Given the description of an element on the screen output the (x, y) to click on. 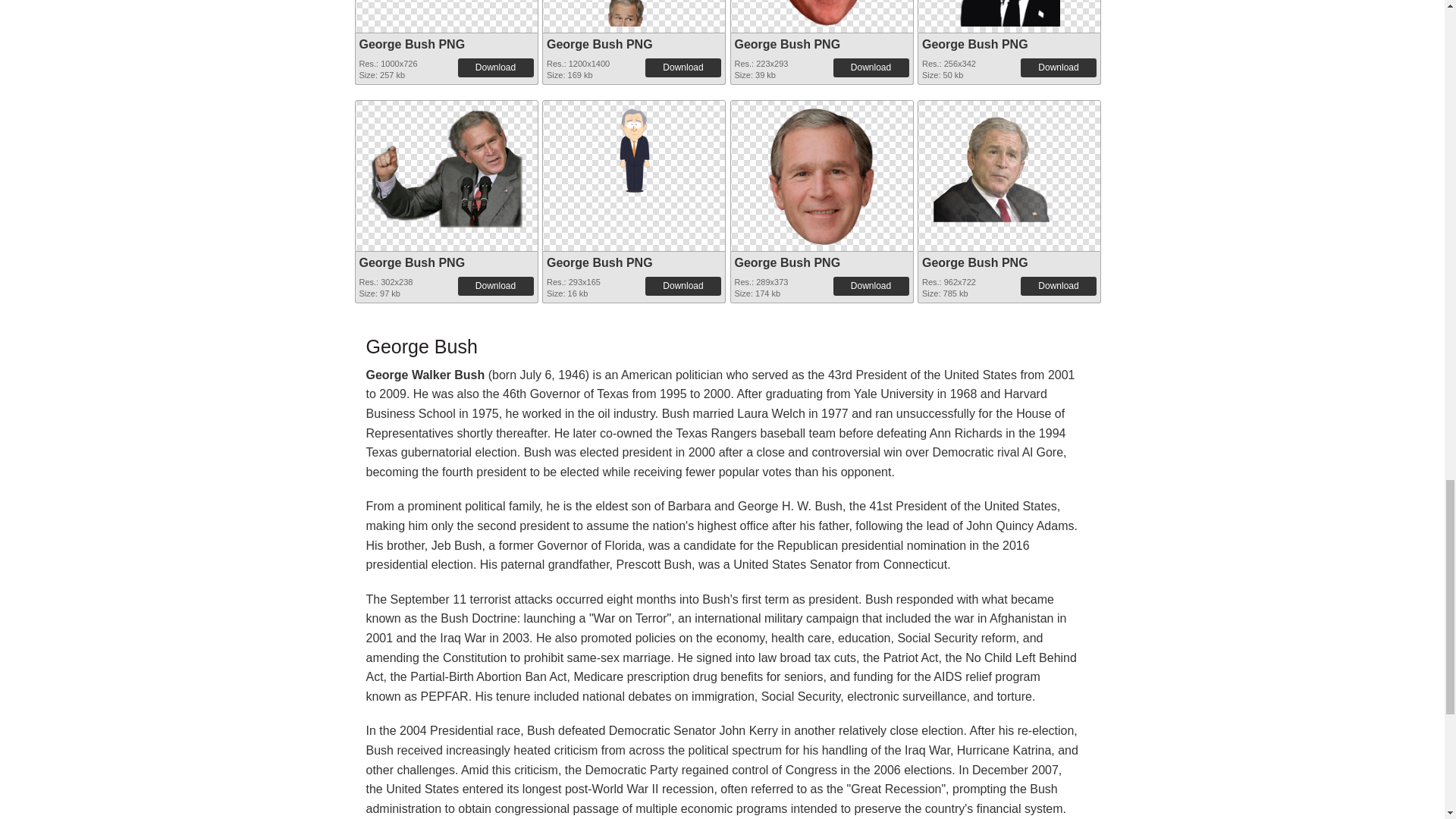
Download (682, 67)
George Bush PNG (1008, 13)
Download (496, 67)
George Bush PNG (599, 43)
George Bush PNG (412, 43)
George Bush PNG (634, 13)
Download (1058, 67)
Download (870, 67)
George Bush PNG (786, 43)
George Bush PNG (974, 43)
